Given the description of an element on the screen output the (x, y) to click on. 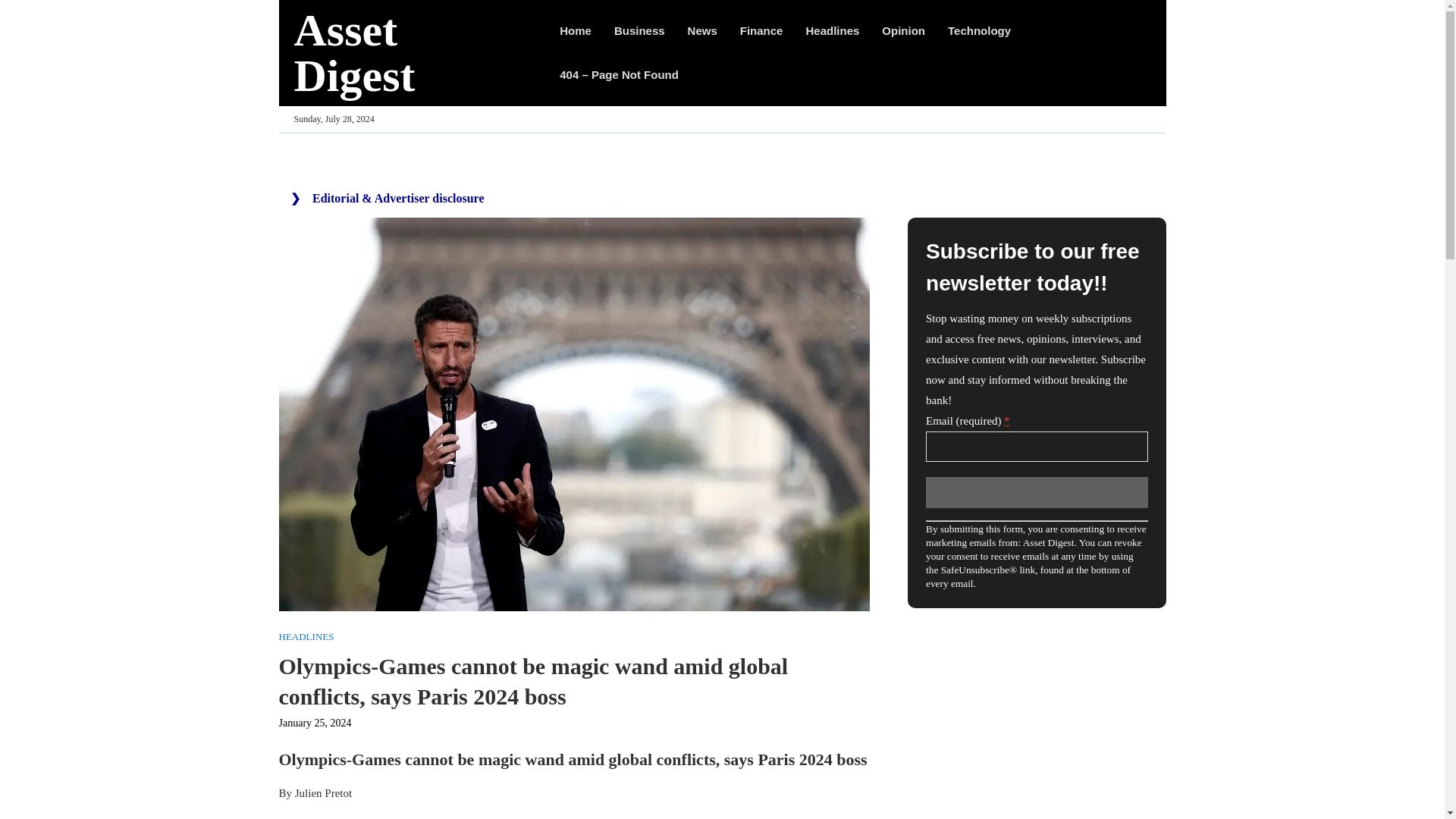
required (1006, 420)
Business (639, 31)
Home (575, 31)
Business (639, 31)
Headlines (832, 31)
News (702, 31)
HEADLINES (306, 636)
Sign up for free! (1036, 491)
Technology (978, 31)
Asset Digest (411, 52)
Opinion (903, 31)
News (702, 31)
Finance (761, 31)
